Given the description of an element on the screen output the (x, y) to click on. 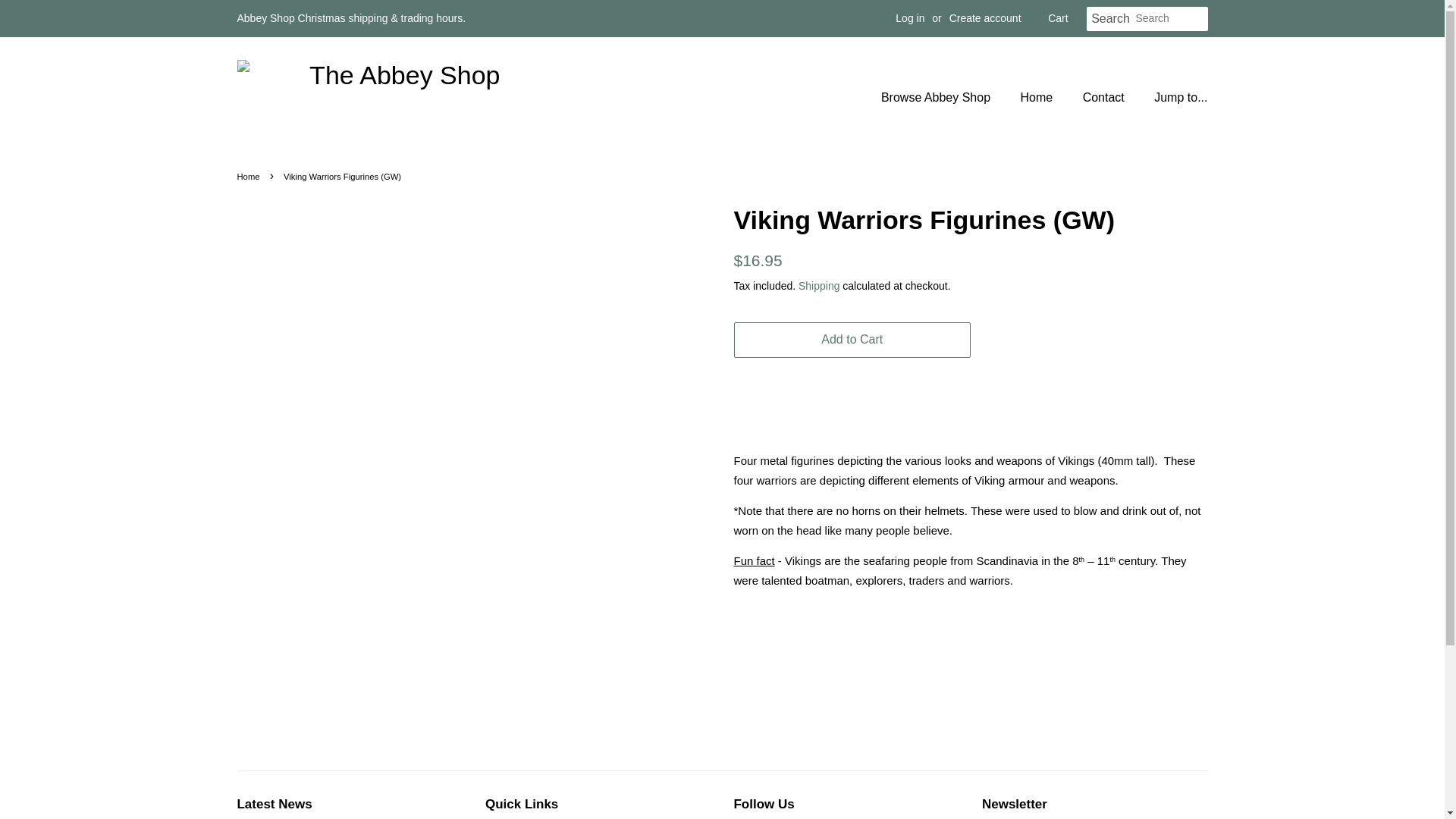
Cart (1057, 18)
Search (1110, 18)
Back to the frontpage (249, 175)
Create account (985, 18)
Log in (909, 18)
